Given the description of an element on the screen output the (x, y) to click on. 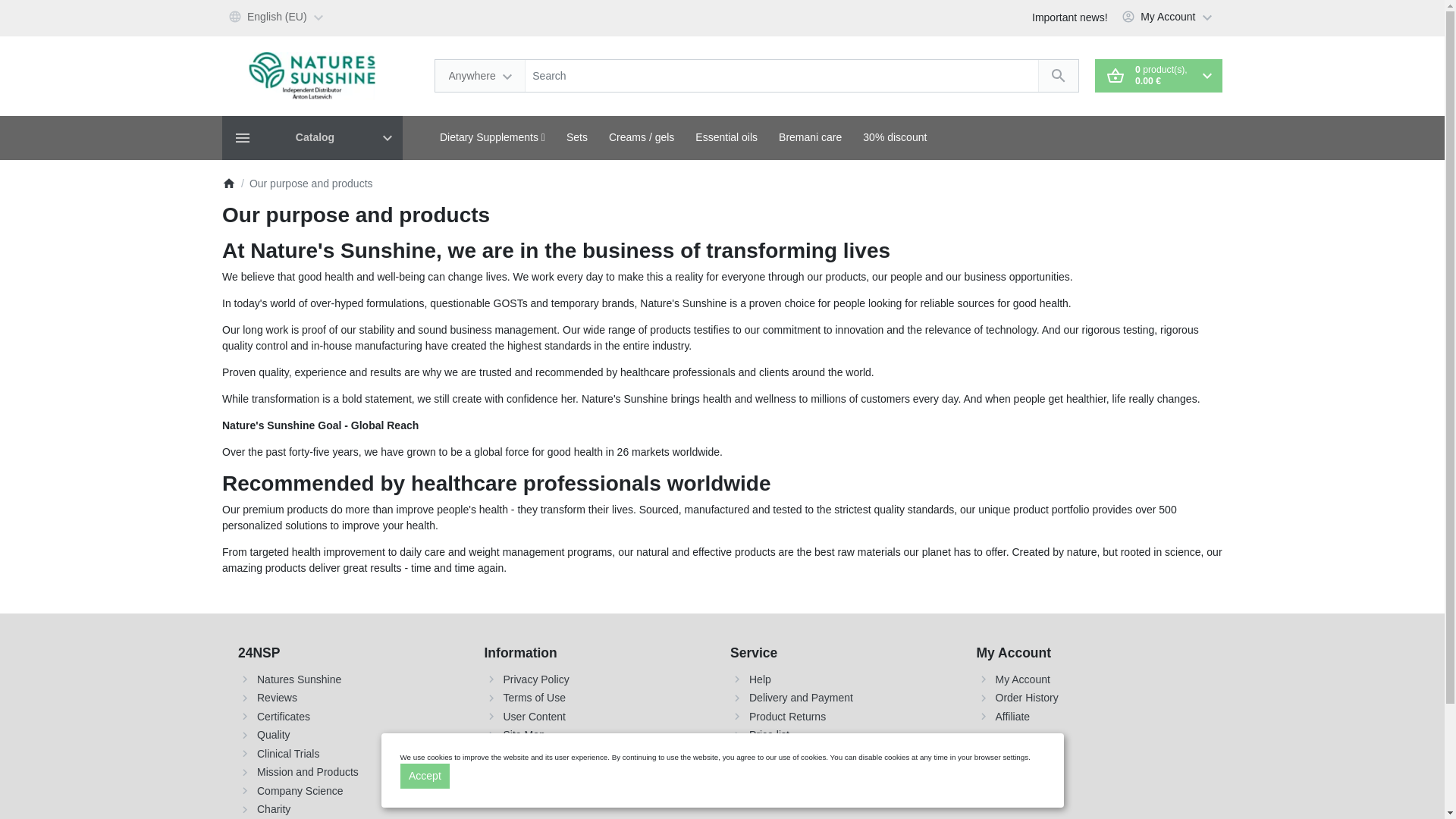
My Account (1169, 17)
My Account (1169, 17)
Catalog (312, 137)
Anywhere (480, 75)
Dietary Supplements (492, 137)
Important news! (1069, 17)
